Given the description of an element on the screen output the (x, y) to click on. 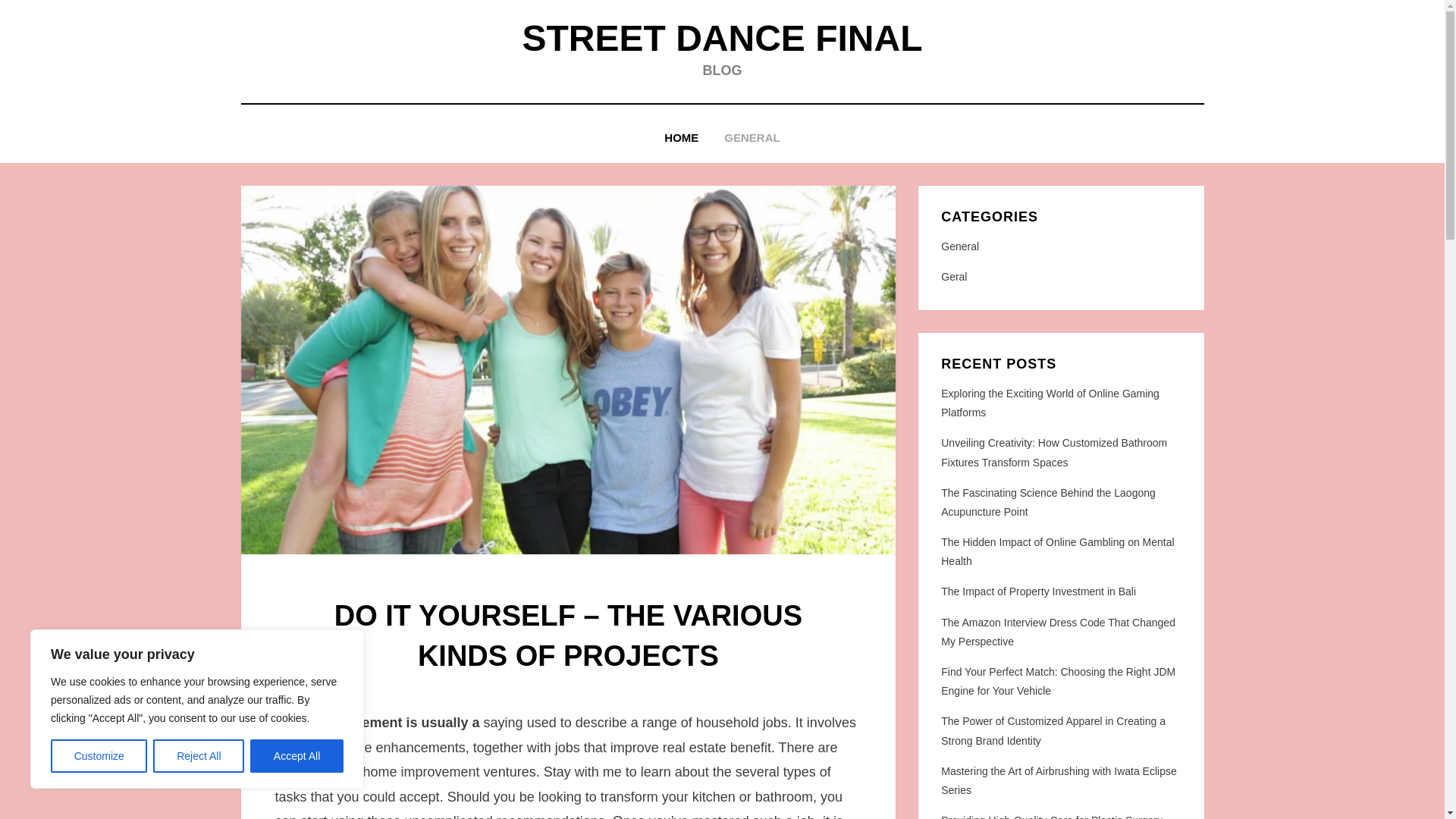
Exploring the Exciting World of Online Gaming Platforms (1049, 402)
The Amazon Interview Dress Code That Changed My Perspective (1057, 631)
HOME (680, 137)
Street Dance Final (721, 38)
Reject All (198, 756)
The Fascinating Science Behind the Laogong Acupuncture Point (1048, 501)
GENERAL (751, 137)
Geral (1060, 276)
